Given the description of an element on the screen output the (x, y) to click on. 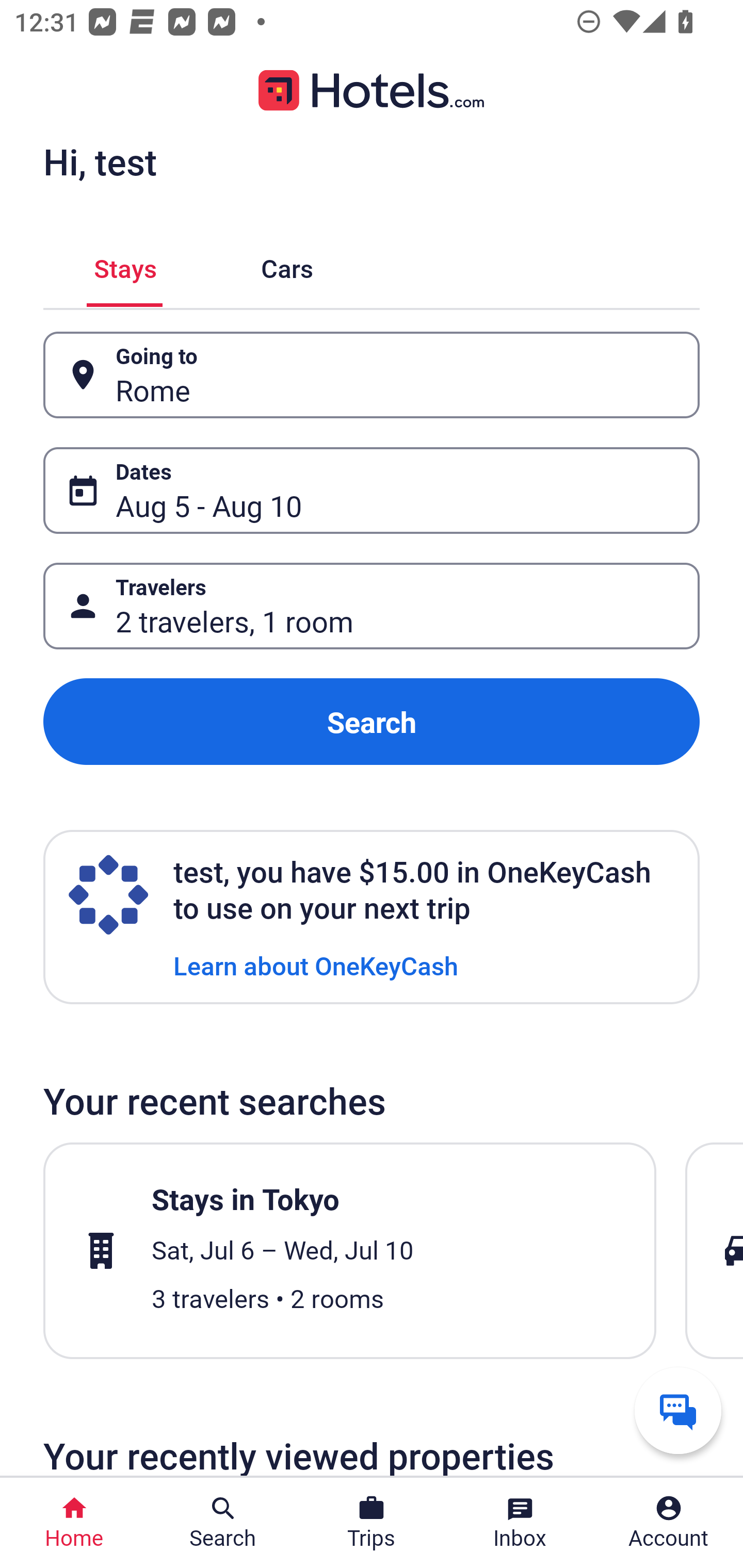
Hi, test (99, 161)
Cars (286, 265)
Going to Button Rome (371, 375)
Dates Button Aug 5 - Aug 10 (371, 489)
Travelers Button 2 travelers, 1 room (371, 605)
Search (371, 721)
Learn about OneKeyCash Learn about OneKeyCash Link (315, 964)
Get help from a virtual agent (677, 1410)
Search Search Button (222, 1522)
Trips Trips Button (371, 1522)
Inbox Inbox Button (519, 1522)
Account Profile. Button (668, 1522)
